Given the description of an element on the screen output the (x, y) to click on. 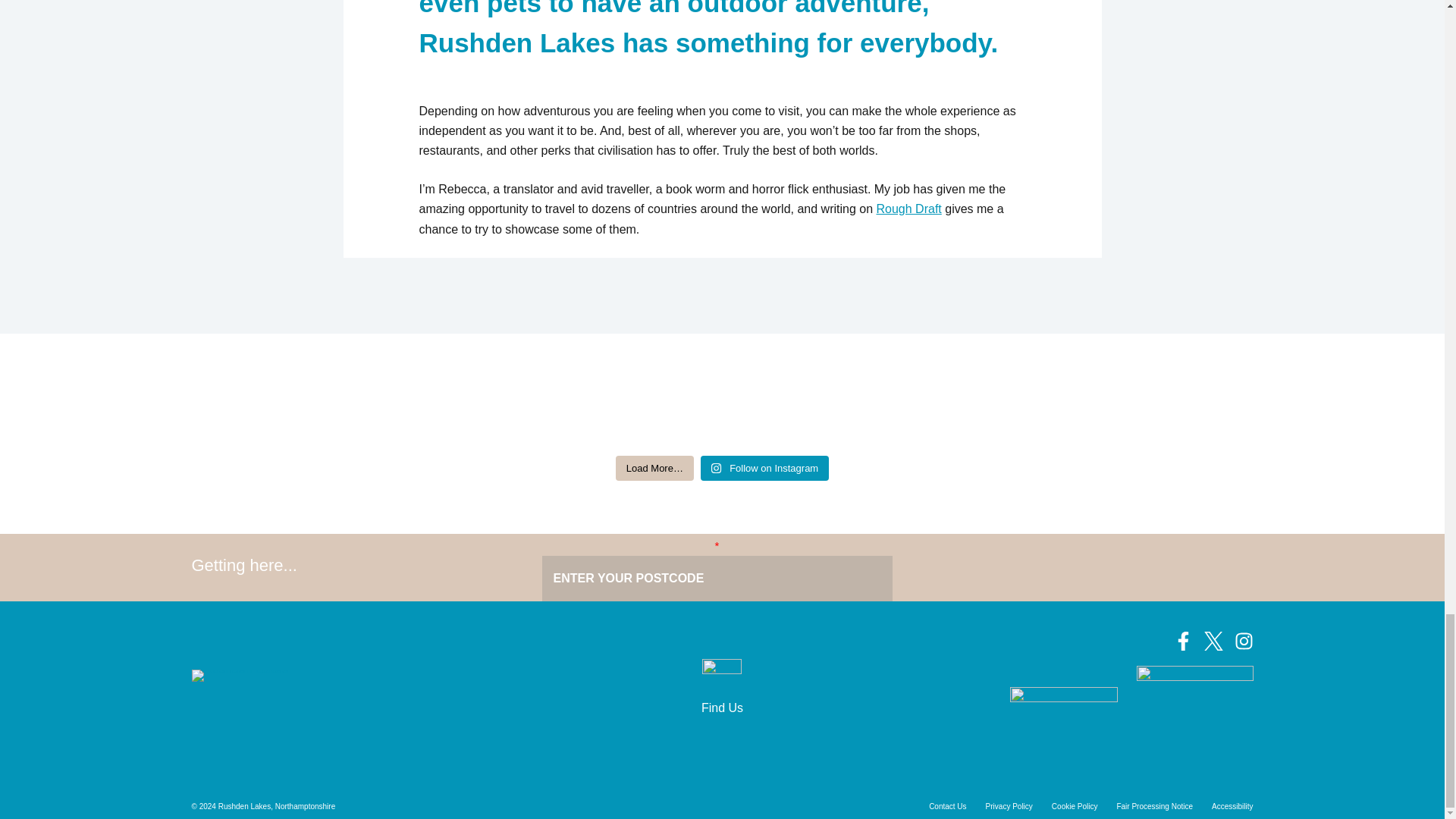
Twitter (1213, 640)
Facebook (1182, 640)
Submit (1066, 567)
Instagram (1243, 640)
